Given the description of an element on the screen output the (x, y) to click on. 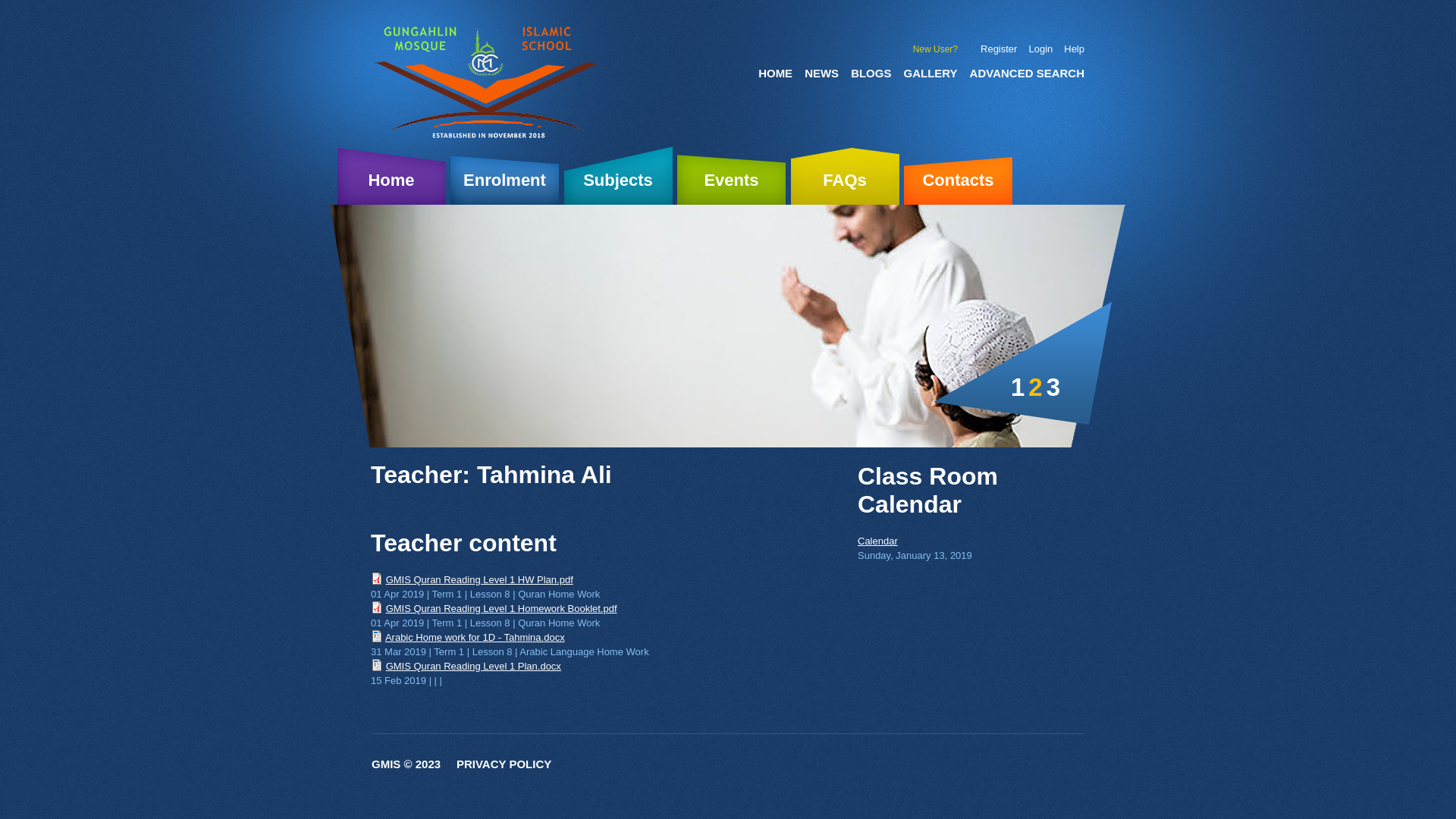
GMIS Quran Reading Level 1 Homework Booklet.pdf Element type: text (501, 608)
Login Element type: text (1040, 48)
Arabic Home work for 1D - Tahmina.docx Element type: text (474, 637)
Help Element type: text (1073, 48)
Home Element type: text (390, 174)
Calendar Element type: text (877, 540)
2 Element type: text (1034, 387)
GALLERY Element type: text (924, 67)
Enrolment Element type: text (504, 174)
application/pdf Element type: hover (376, 578)
HOME Element type: text (769, 67)
Home Element type: hover (488, 83)
NEWS Element type: text (815, 67)
application/pdf Element type: hover (376, 607)
GMIS Quran Reading Level 1 Plan.docx Element type: text (473, 665)
1 Element type: text (1017, 387)
PRIVACY POLICY Element type: text (503, 763)
3 Element type: text (1053, 387)
GMIS Quran Reading Level 1 HW Plan.pdf Element type: text (479, 579)
FAQs Element type: text (844, 174)
Register Element type: text (998, 48)
BLOGS Element type: text (864, 67)
ADVANCED SEARCH Element type: text (1020, 67)
Events Element type: text (731, 174)
Subjects Element type: text (618, 174)
Contacts Element type: text (957, 174)
